Given the description of an element on the screen output the (x, y) to click on. 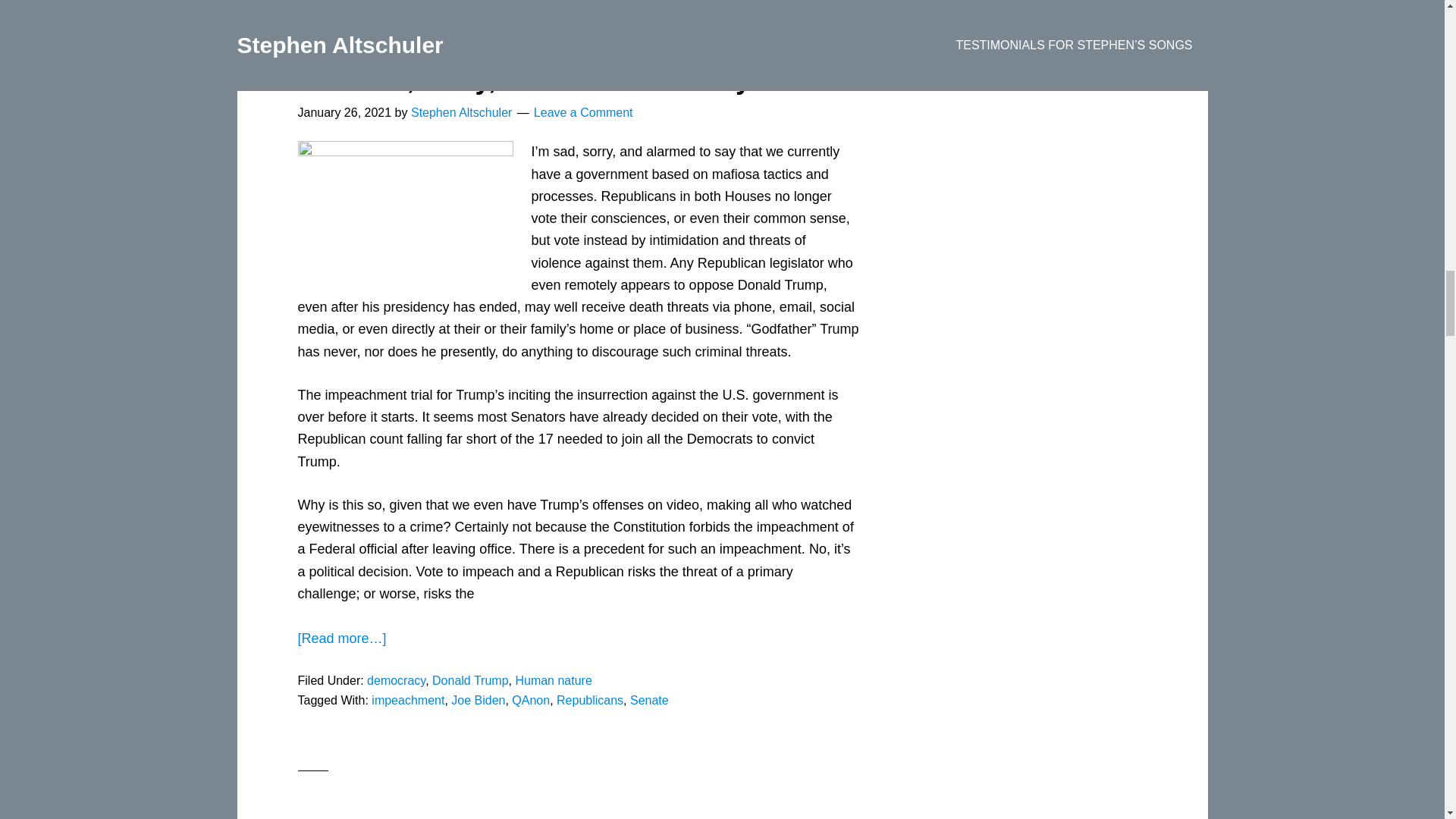
Leave a Comment (583, 112)
Stephen Altschuler (461, 112)
democracy (395, 680)
